Given the description of an element on the screen output the (x, y) to click on. 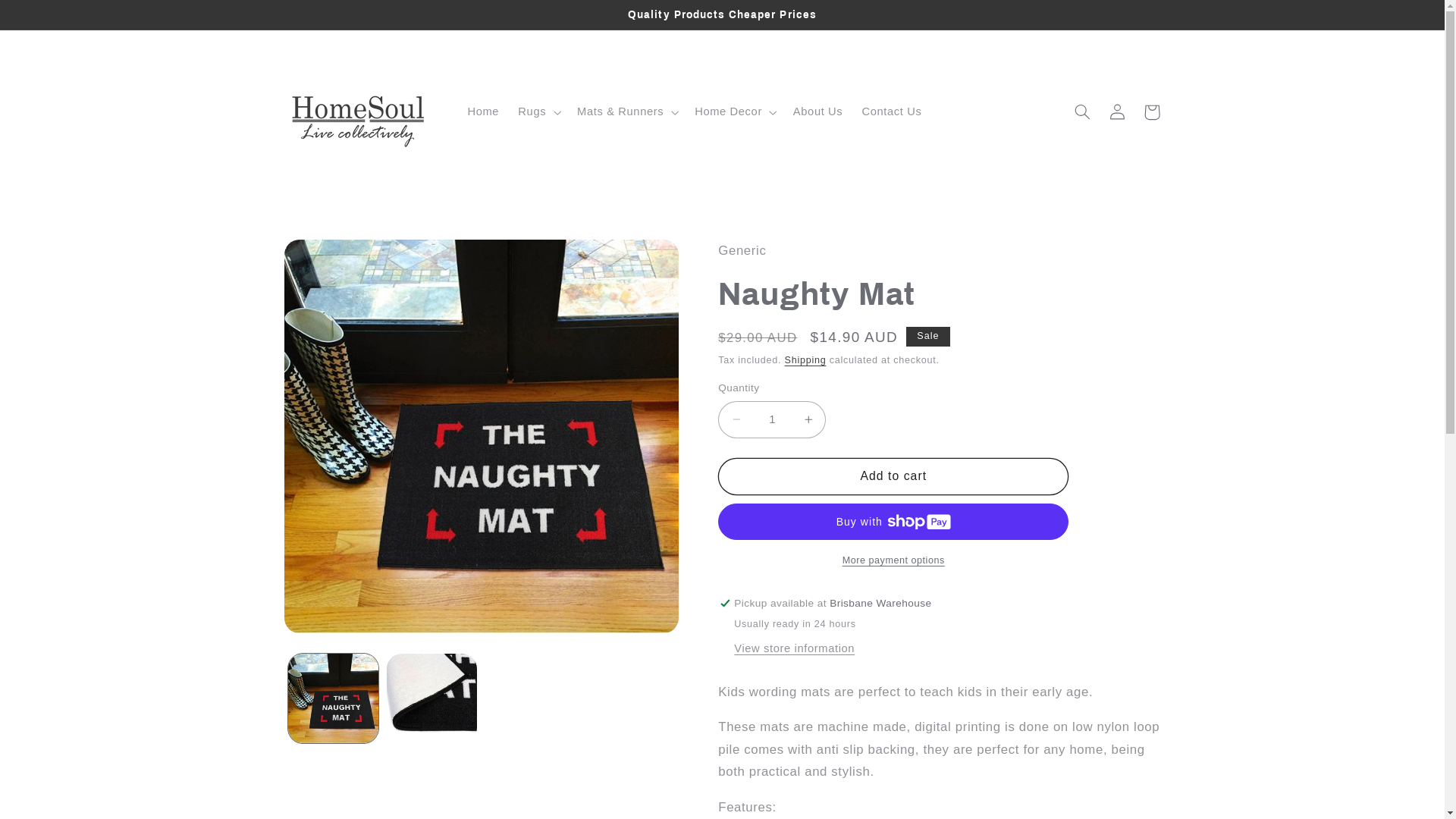
Home Element type: text (483, 111)
Skip to product information Element type: text (331, 256)
Increase quantity for Naughty Mat Element type: text (807, 419)
Contact Us Element type: text (891, 111)
Decrease quantity for Naughty Mat Element type: text (735, 419)
More payment options Element type: text (893, 560)
About Us Element type: text (817, 111)
Shipping Element type: text (805, 359)
Cart Element type: text (1151, 111)
View store information Element type: text (794, 648)
Log in Element type: text (1116, 111)
Add to cart Element type: text (893, 476)
